Given the description of an element on the screen output the (x, y) to click on. 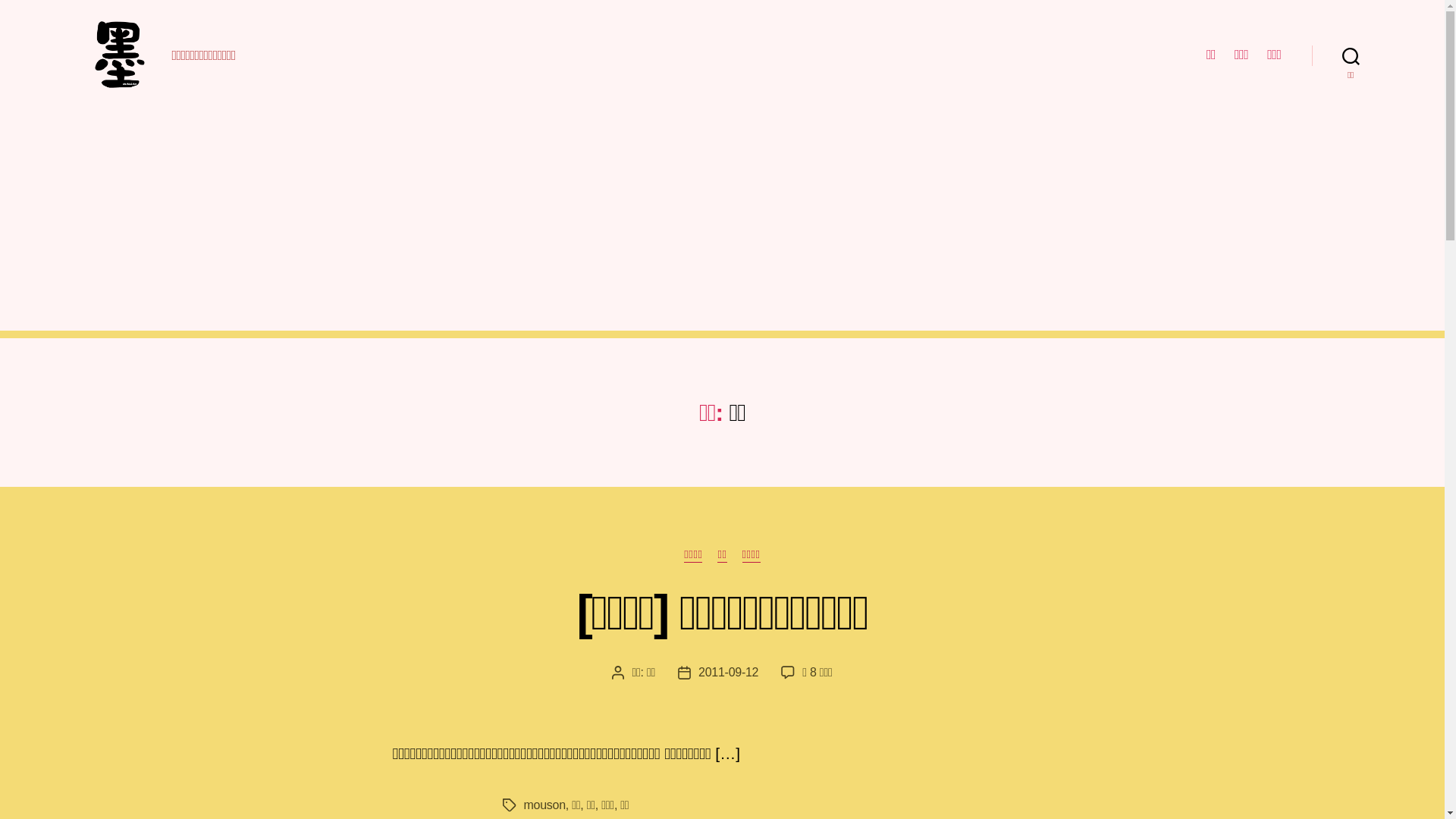
Advertisement Element type: hover (721, 224)
2011-09-12 Element type: text (728, 671)
mouson Element type: text (543, 804)
